Given the description of an element on the screen output the (x, y) to click on. 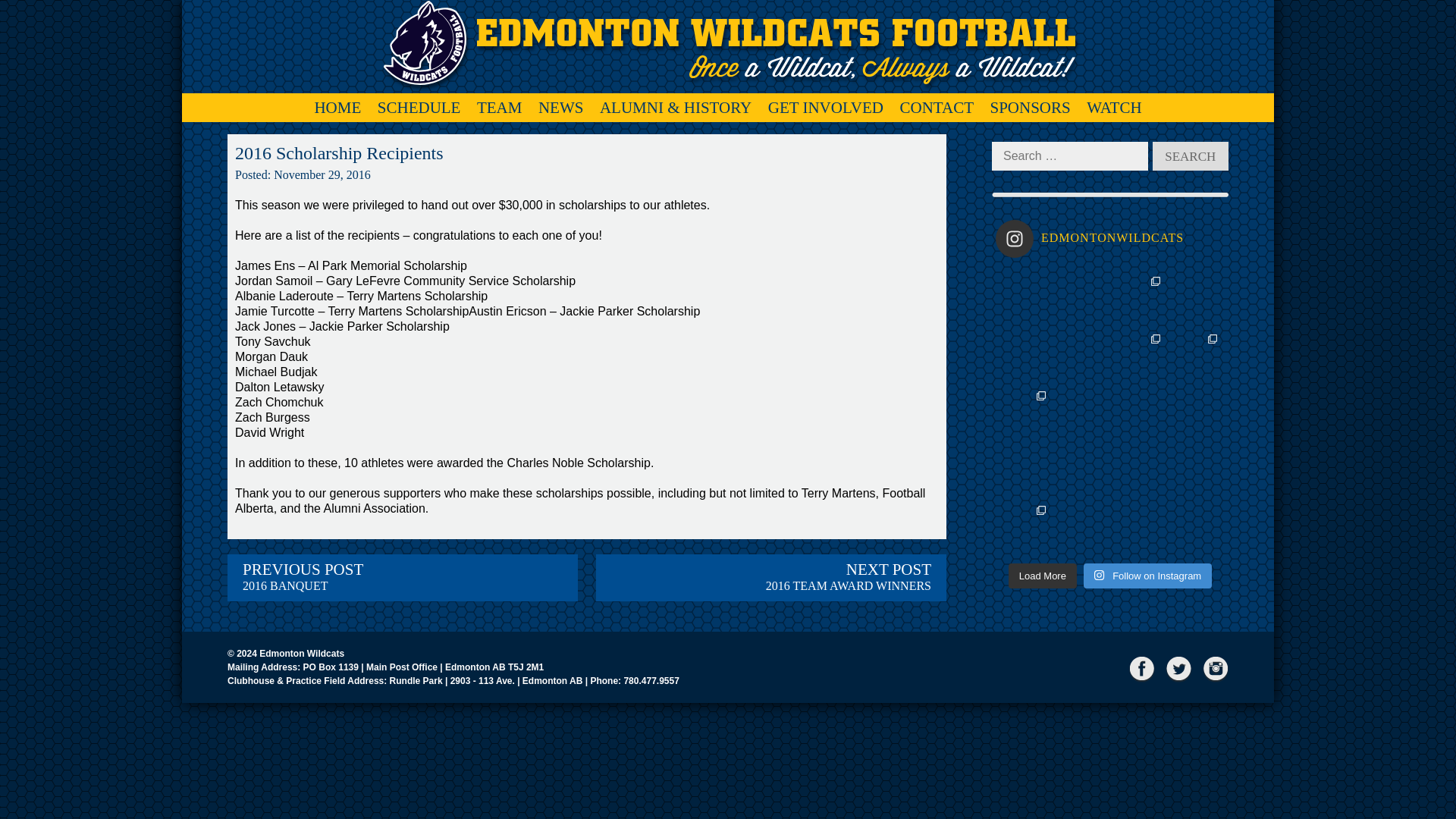
TEAM (499, 107)
EDMONTONWILDCATS (1109, 238)
Search (1190, 155)
GET INVOLVED (825, 107)
Posted: November 29, 2016 (770, 577)
HOME (302, 174)
NEWS (337, 107)
SCHEDULE (560, 107)
CONTACT (419, 107)
